Given the description of an element on the screen output the (x, y) to click on. 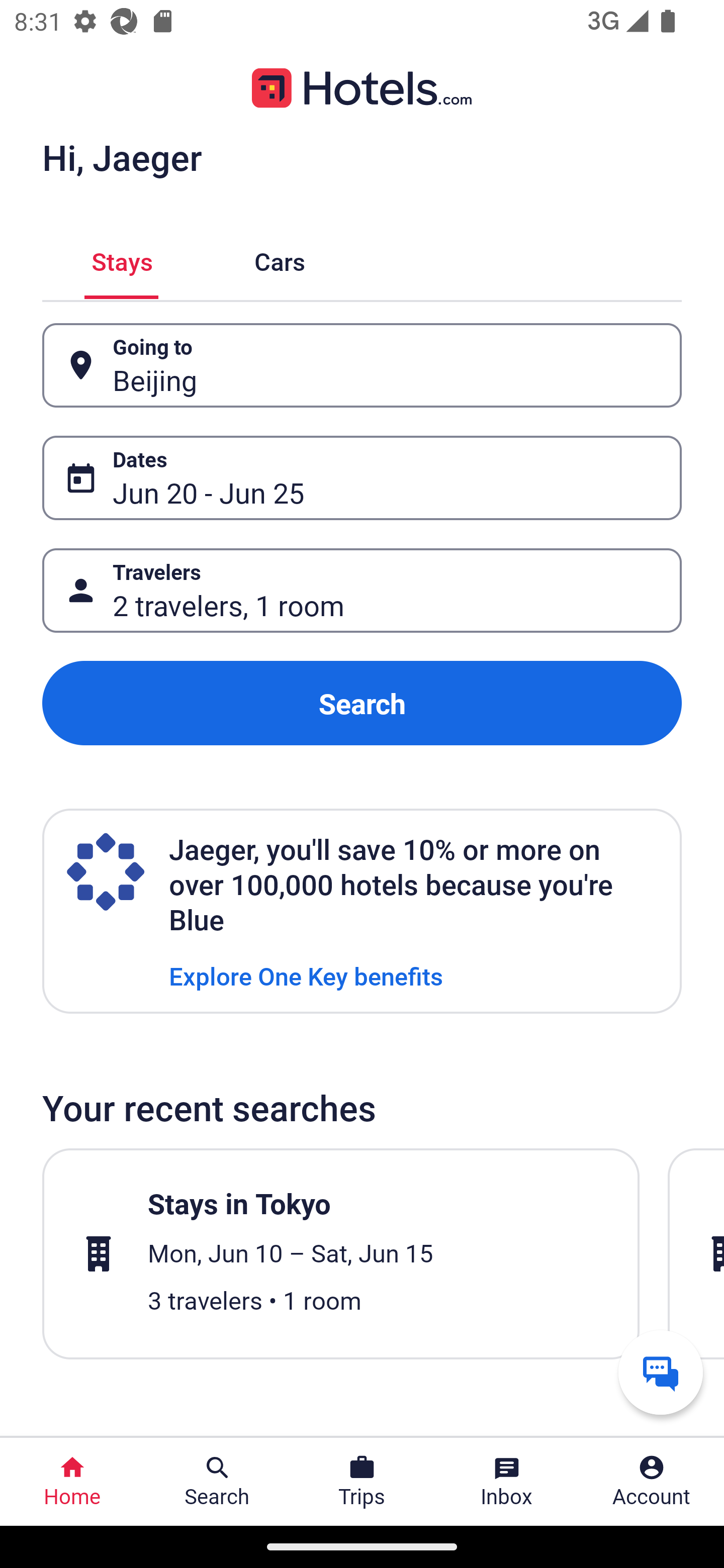
Hi, Jaeger (121, 156)
Cars (279, 259)
Going to Button Beijing (361, 365)
Dates Button Jun 20 - Jun 25 (361, 477)
Travelers Button 2 travelers, 1 room (361, 590)
Search (361, 702)
Get help from a virtual agent (660, 1371)
Search Search Button (216, 1481)
Trips Trips Button (361, 1481)
Inbox Inbox Button (506, 1481)
Account Profile. Button (651, 1481)
